Given the description of an element on the screen output the (x, y) to click on. 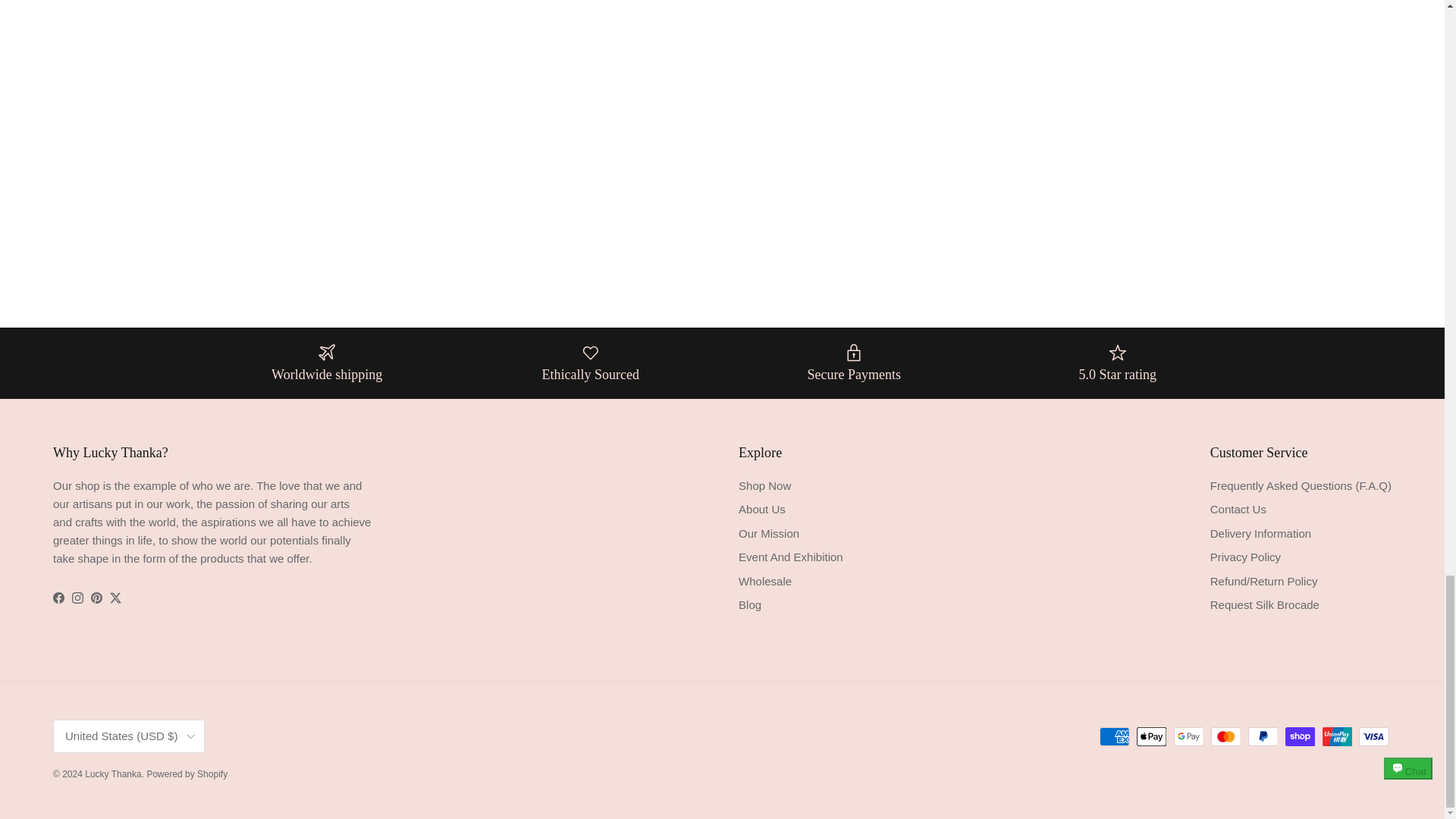
Lucky Thanka on Twitter (115, 597)
Lucky Thanka on Facebook (58, 597)
Lucky Thanka on Pinterest (95, 597)
Lucky Thanka on Instagram (76, 597)
